Given the description of an element on the screen output the (x, y) to click on. 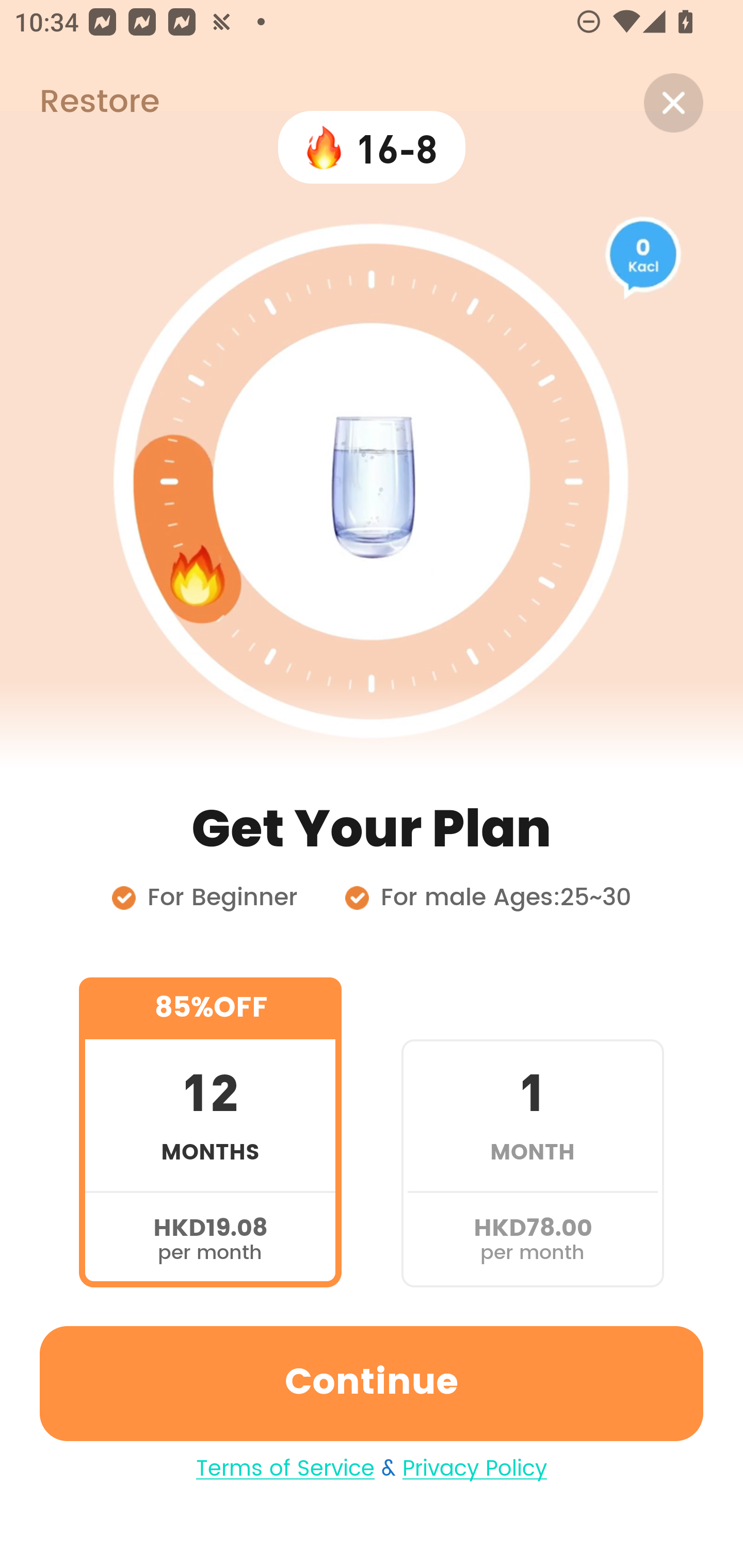
Restore (79, 102)
85%OFF 12 MONTHS per month HKD19.08 (209, 1131)
1 MONTH per month HKD78.00 (532, 1131)
Continue (371, 1383)
